Given the description of an element on the screen output the (x, y) to click on. 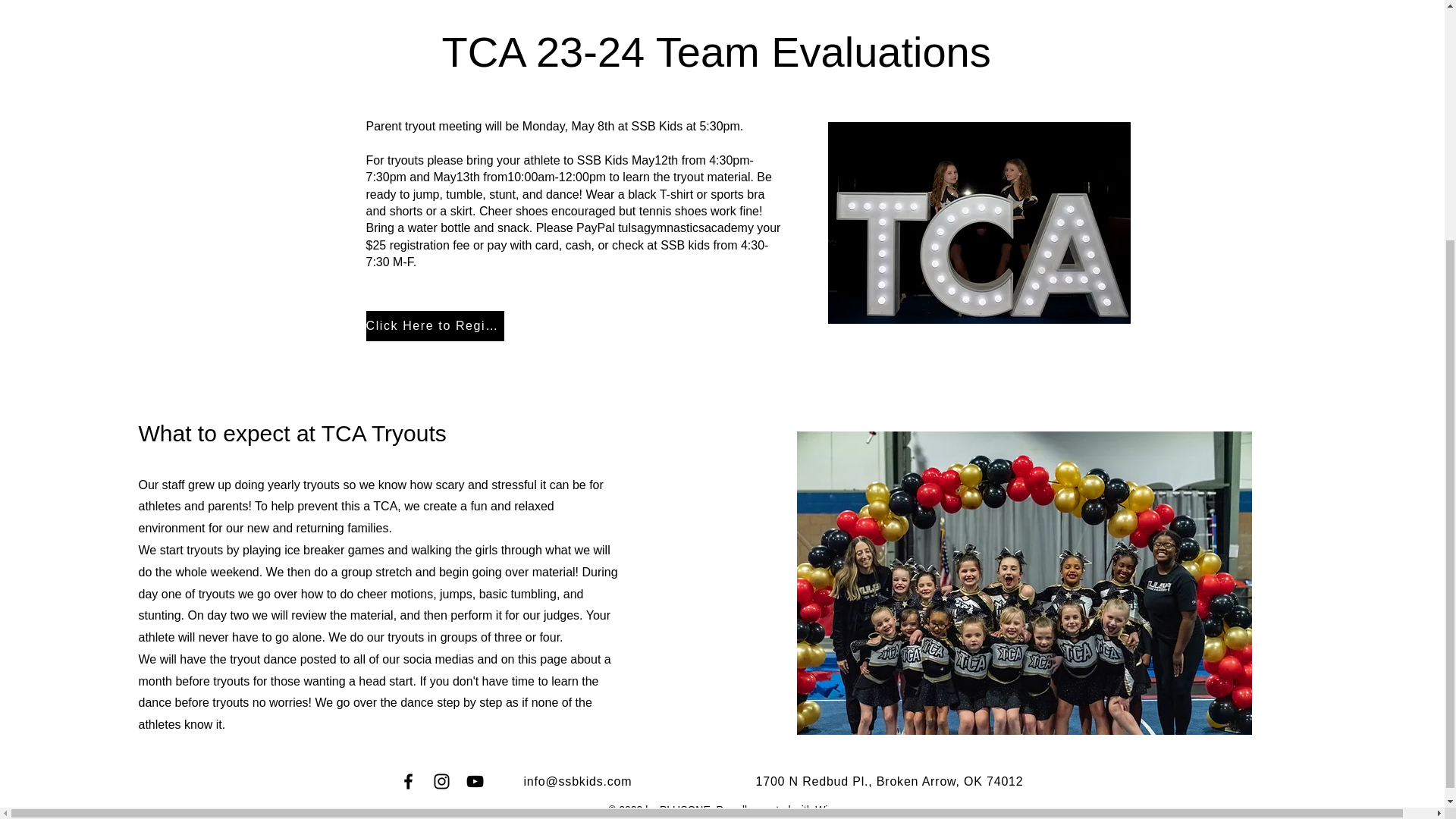
Click Here to Register (434, 326)
Wix.com (835, 809)
